Given the description of an element on the screen output the (x, y) to click on. 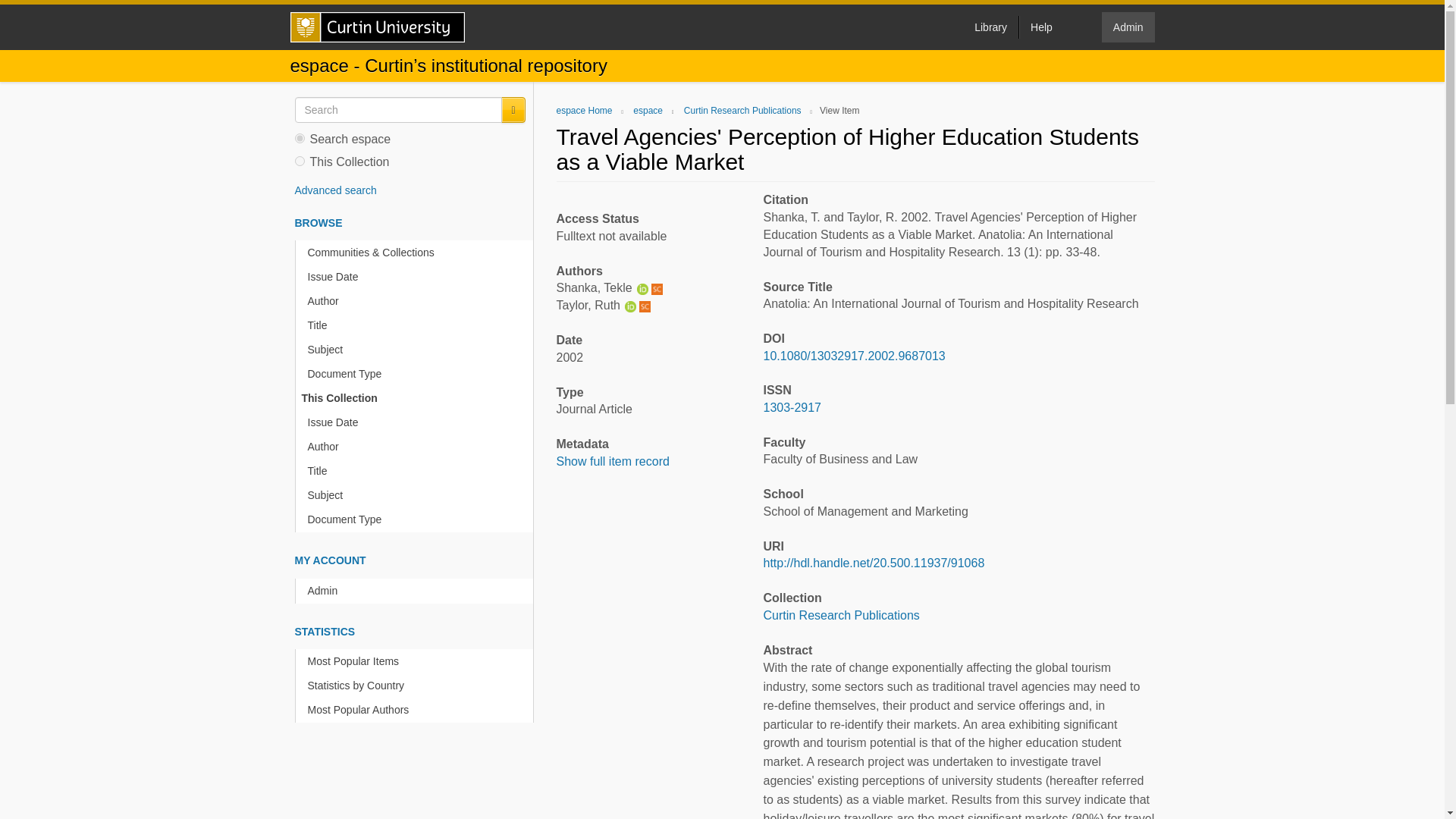
Curtin University Homepage (376, 27)
Help (1040, 26)
1303-2917 (791, 407)
Show full item record (612, 461)
Advanced search (334, 190)
Go (512, 109)
espace Home (584, 110)
Author (416, 301)
espace (647, 110)
Admin (1128, 27)
Author (416, 446)
Issue Date (416, 422)
Curtin Research Publications (840, 615)
Issue Date (416, 276)
Subject (416, 349)
